Given the description of an element on the screen output the (x, y) to click on. 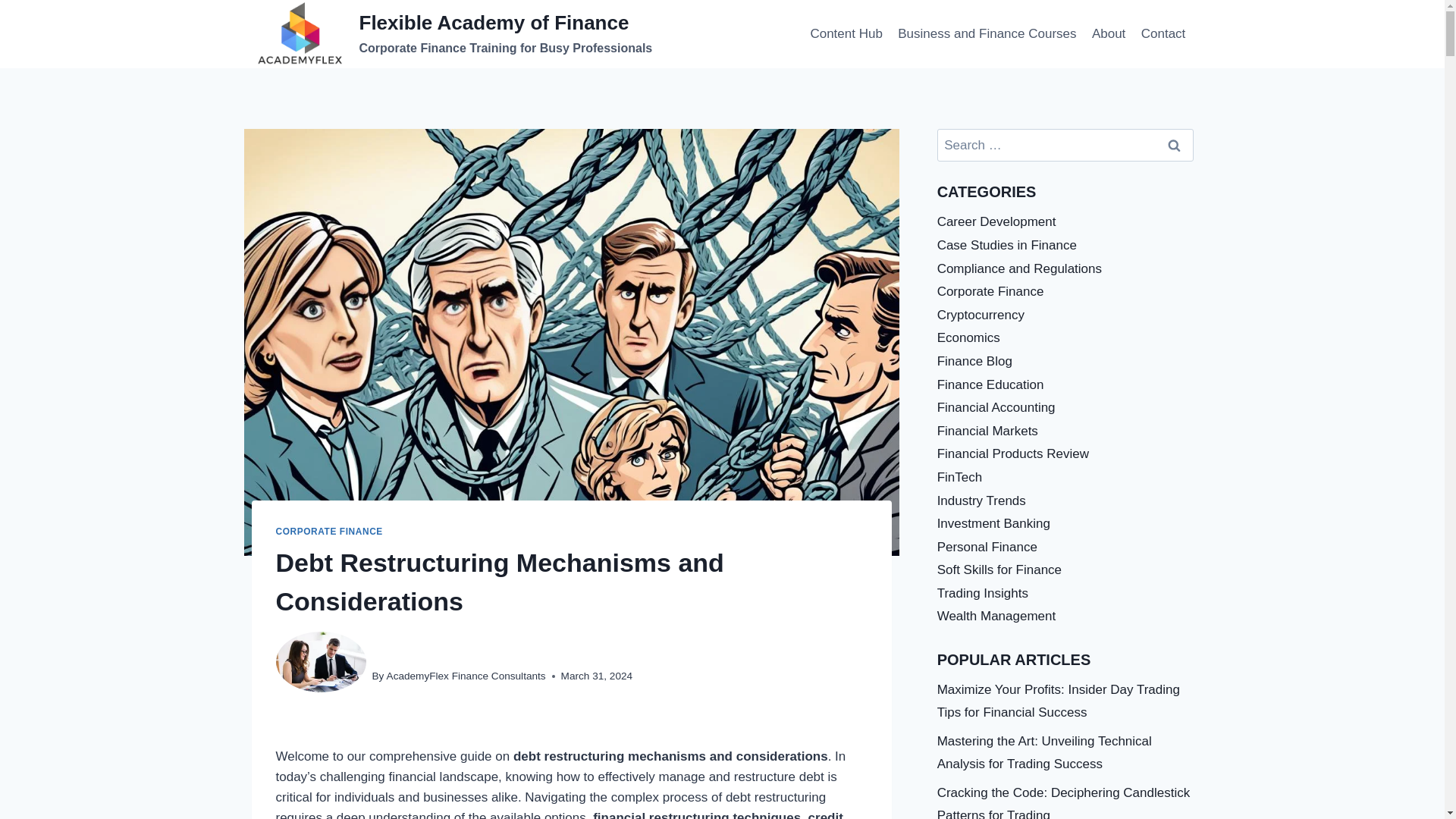
Search (1174, 144)
Search (1174, 144)
CORPORATE FINANCE (329, 531)
Contact (1163, 33)
Content Hub (845, 33)
About (1109, 33)
AcademyFlex Finance Consultants (466, 675)
Business and Finance Courses (986, 33)
